Given the description of an element on the screen output the (x, y) to click on. 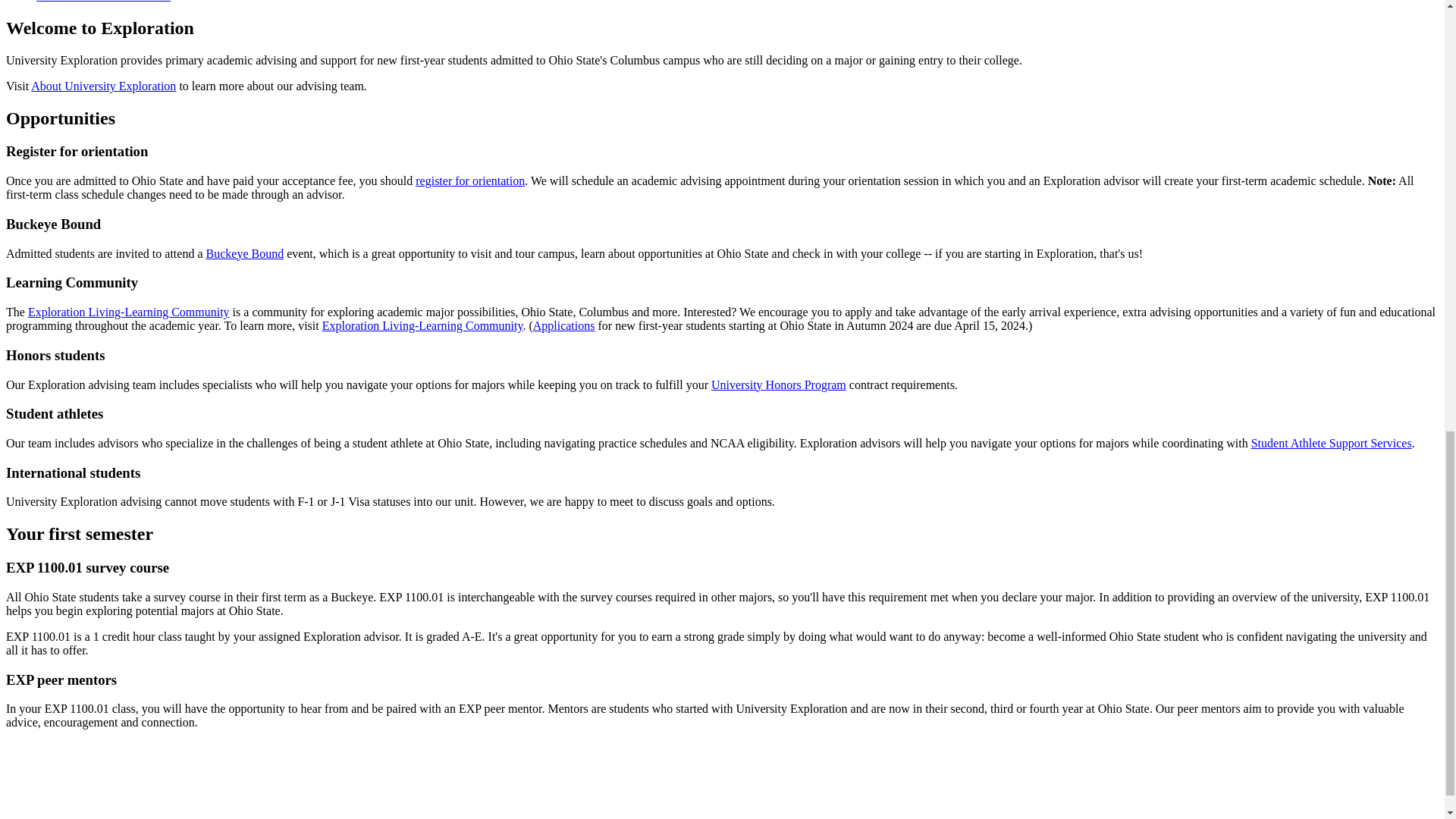
Opens new browser tab (778, 384)
Opens new browser tab (563, 325)
Opens new browser tab (469, 180)
Opens new browser tab (128, 311)
Opens new browser tab (244, 253)
THE OHIO STATE UNIVERSITY (118, 786)
Opens new browser tab (1331, 442)
Opens new browser tab (421, 325)
